Given the description of an element on the screen output the (x, y) to click on. 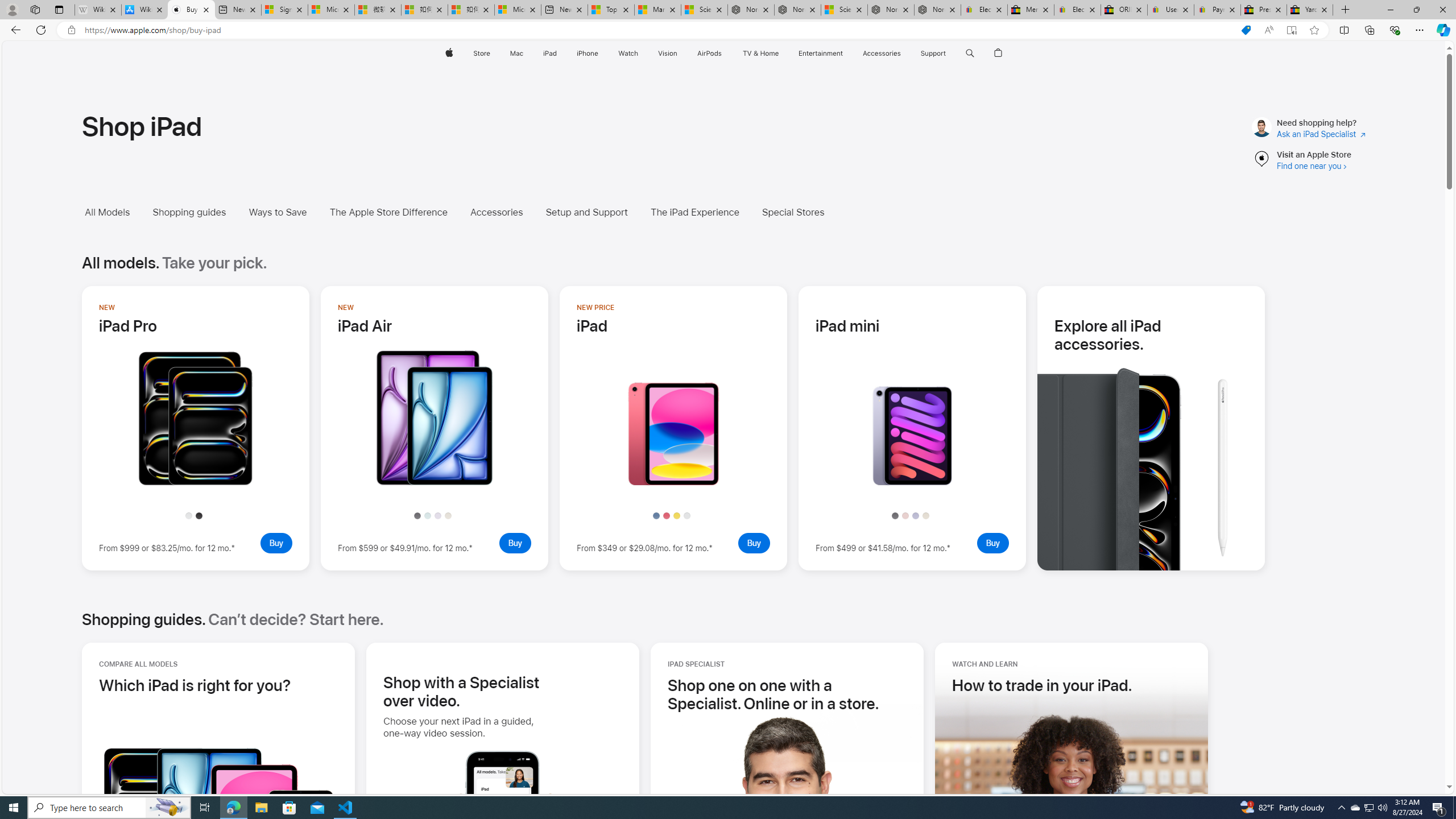
Accessories (505, 212)
iPhone menu (600, 53)
Press Room - eBay Inc. (1263, 9)
Watch (627, 53)
Apple (448, 53)
Class: globalnav-submenu-trigger-item (948, 53)
The iPad Experience (702, 212)
Sign in to your Microsoft account (284, 9)
Payments Terms of Use | eBay.com (1216, 9)
Purple (915, 515)
The Apple Store Difference (396, 212)
Pink (905, 515)
